Given the description of an element on the screen output the (x, y) to click on. 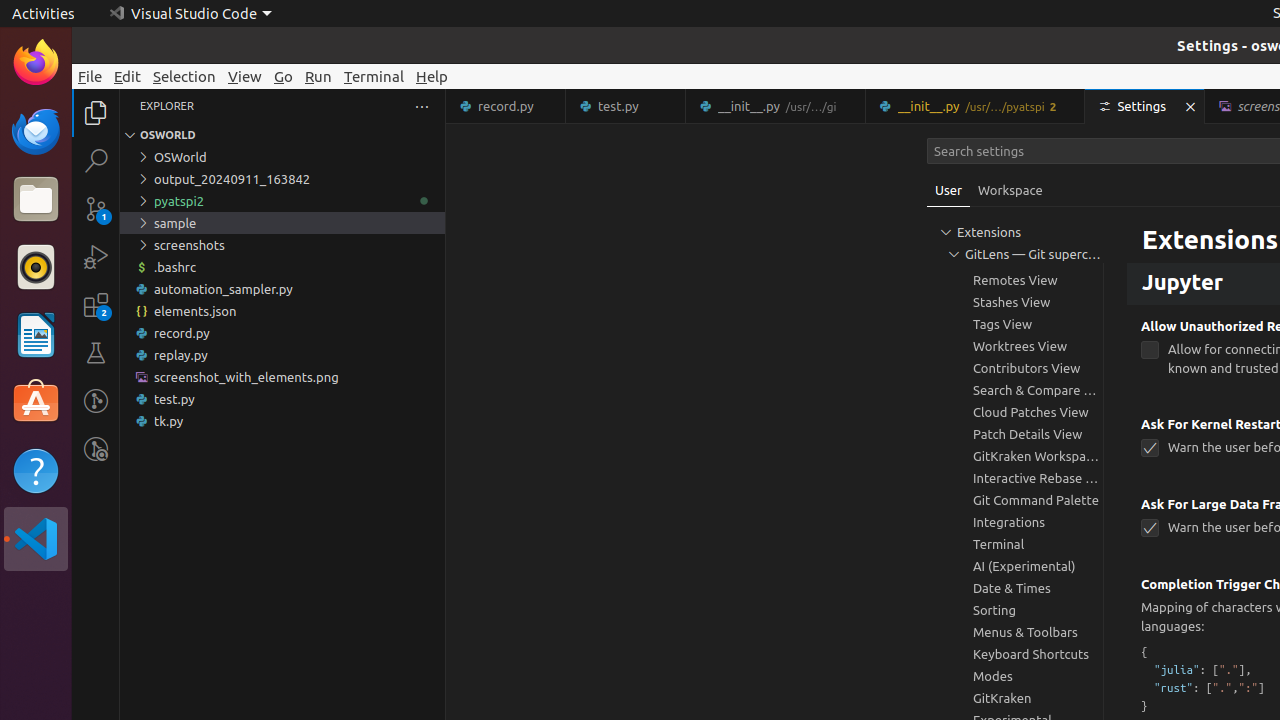
View Element type: push-button (245, 76)
Remotes View, group Element type: tree-item (1015, 280)
